Given the description of an element on the screen output the (x, y) to click on. 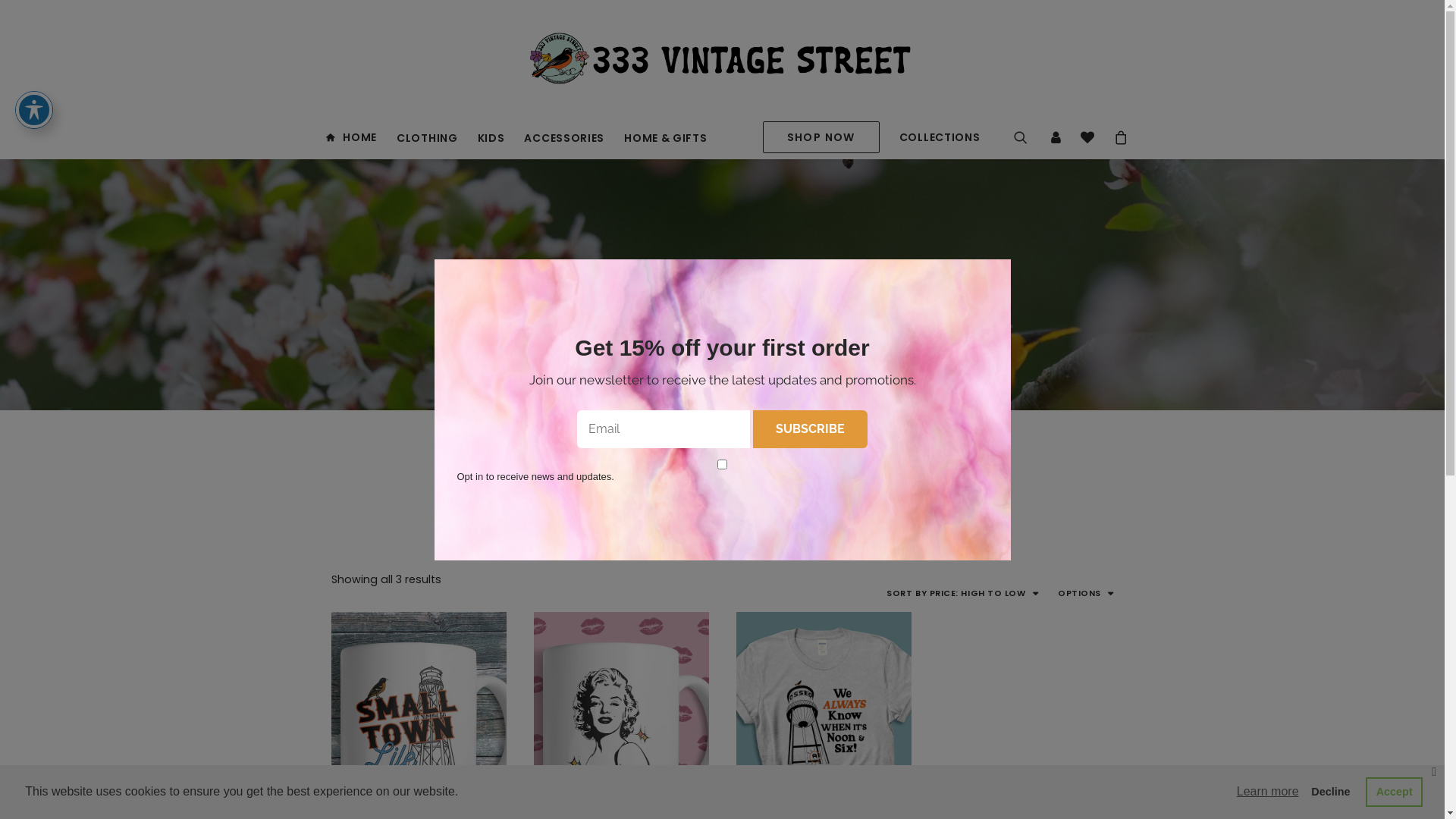
ACCESSORIES Element type: text (564, 137)
SORT BY PRICE: HIGH TO LOW Element type: text (967, 593)
account Element type: hover (1053, 136)
HOME Element type: text (351, 136)
HOME & GIFTS Element type: text (660, 137)
cart Element type: hover (1116, 136)
Decline Element type: text (1330, 791)
SHOP NOW Element type: text (825, 137)
OPTIONS Element type: text (1080, 593)
Accept Element type: text (1393, 791)
wishlist Element type: hover (1087, 136)
CLOTHING Element type: text (426, 137)
KIDS Element type: text (490, 137)
Learn more Element type: text (1267, 791)
COLLECTIONS Element type: text (938, 136)
